Given the description of an element on the screen output the (x, y) to click on. 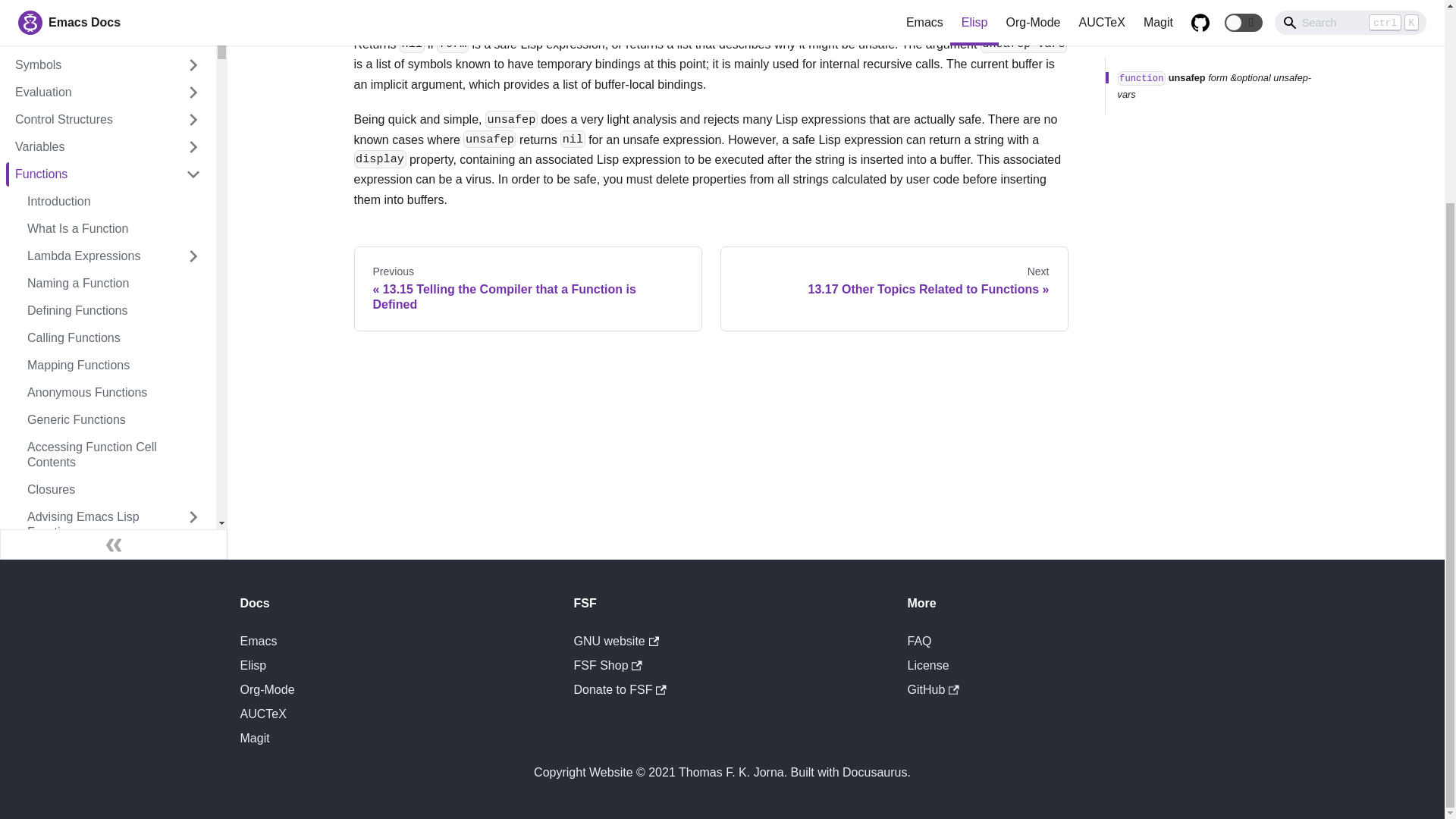
Lambda Expressions (113, 256)
Anonymous Functions (113, 392)
What Is a Function (113, 228)
Hash Tables (107, 37)
Naming a Function (113, 283)
Variables (107, 146)
Symbols (107, 64)
Accessing Function Cell Contents (113, 454)
Generic Functions (113, 419)
Introduction (113, 201)
Defining Functions (113, 310)
Inline Functions (113, 586)
Records (107, 11)
Control Structures (107, 119)
Closures (113, 489)
